Given the description of an element on the screen output the (x, y) to click on. 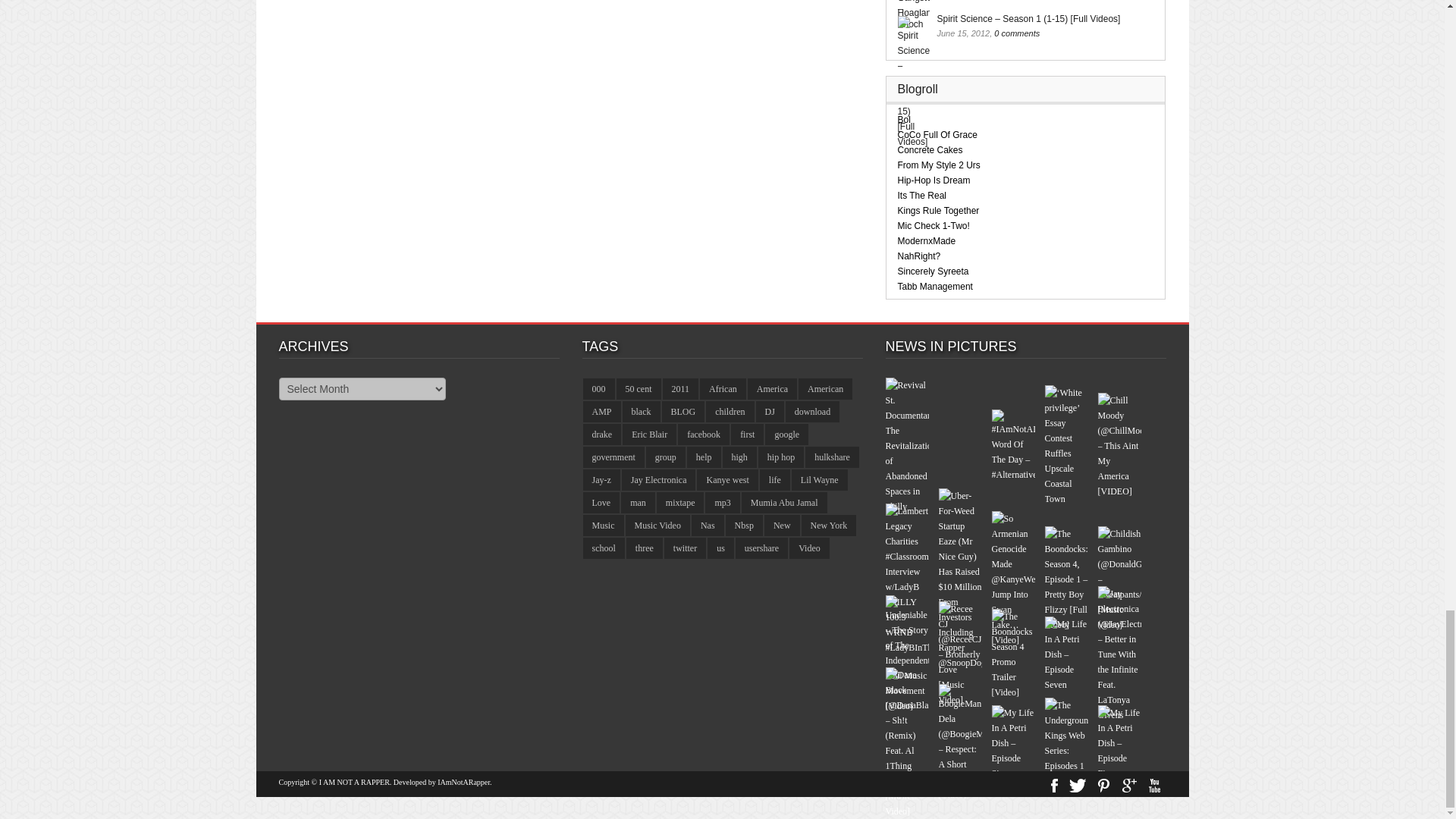
Comment Form (571, 45)
